Given the description of an element on the screen output the (x, y) to click on. 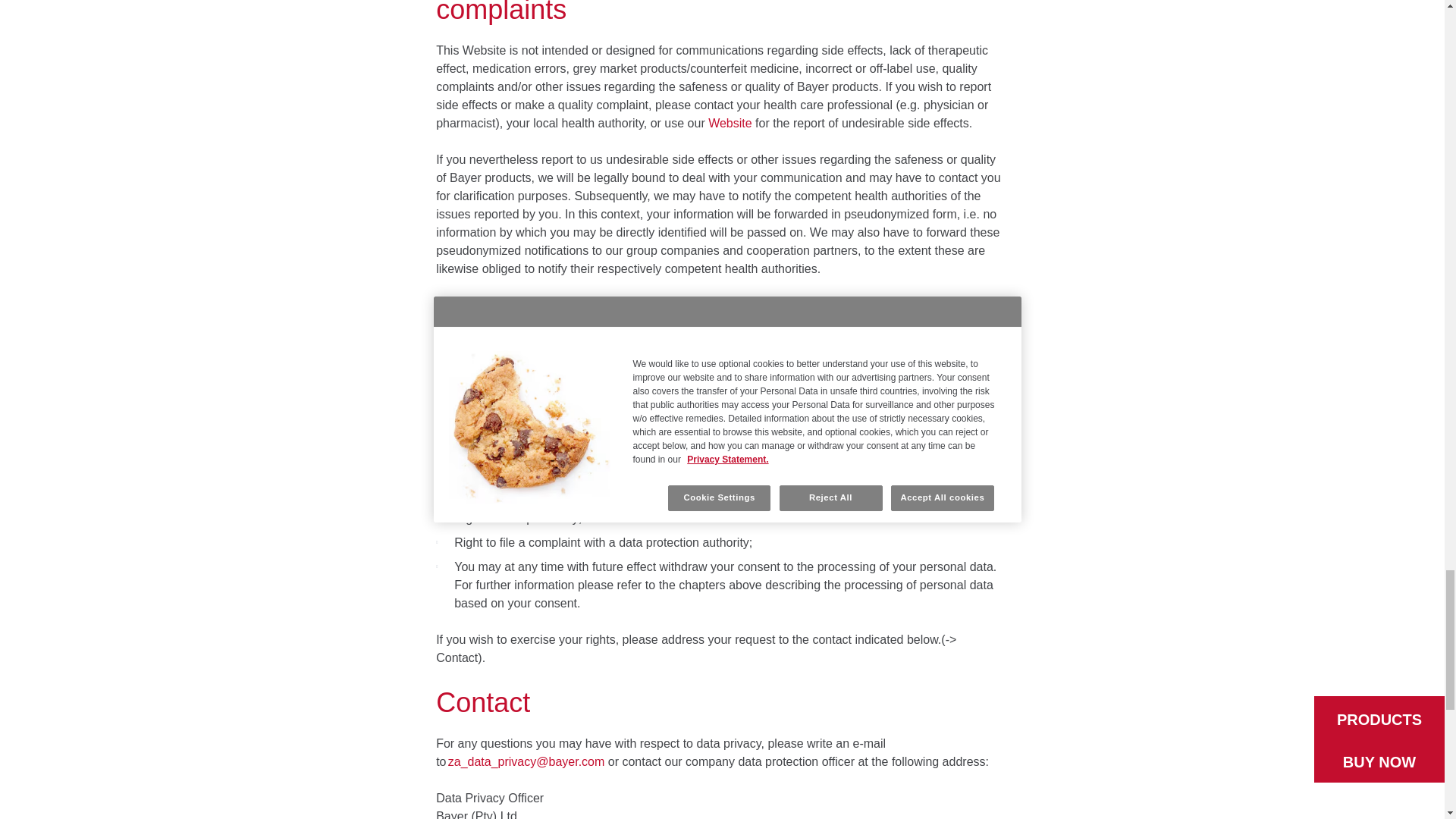
Website (729, 123)
